Given the description of an element on the screen output the (x, y) to click on. 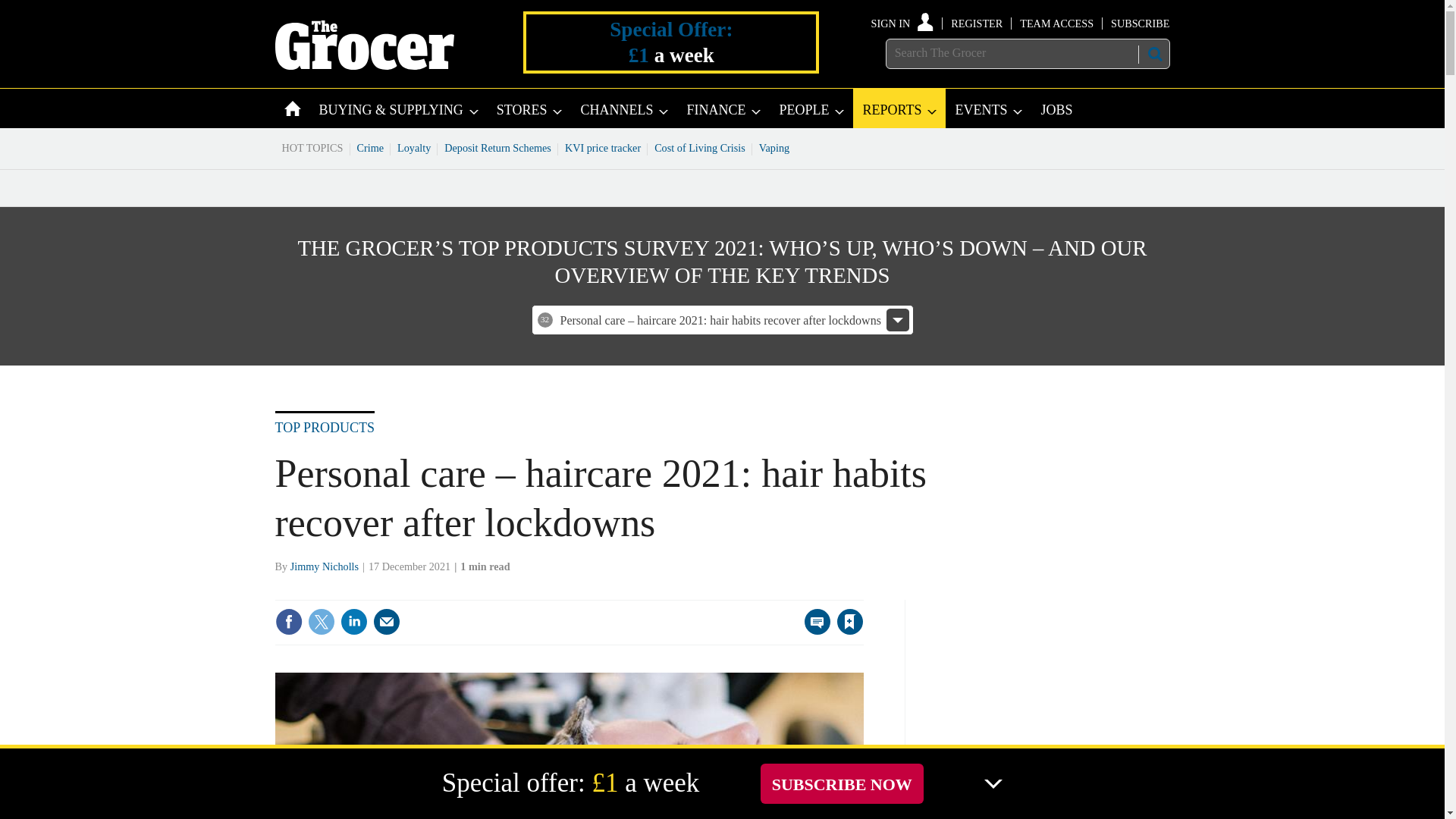
REGISTER (976, 23)
Vaping (774, 147)
Share this on Twitter (320, 621)
Crime (370, 147)
SEARCH (1153, 53)
Cost of Living Crisis (699, 147)
SUBSCRIBE (1139, 23)
SUBSCRIBE NOW (841, 783)
Share this on Facebook (288, 621)
Email this article (386, 621)
No comments (812, 630)
Share this on Linked in (352, 621)
Loyalty (414, 147)
SIGN IN (902, 23)
Site name (363, 65)
